Given the description of an element on the screen output the (x, y) to click on. 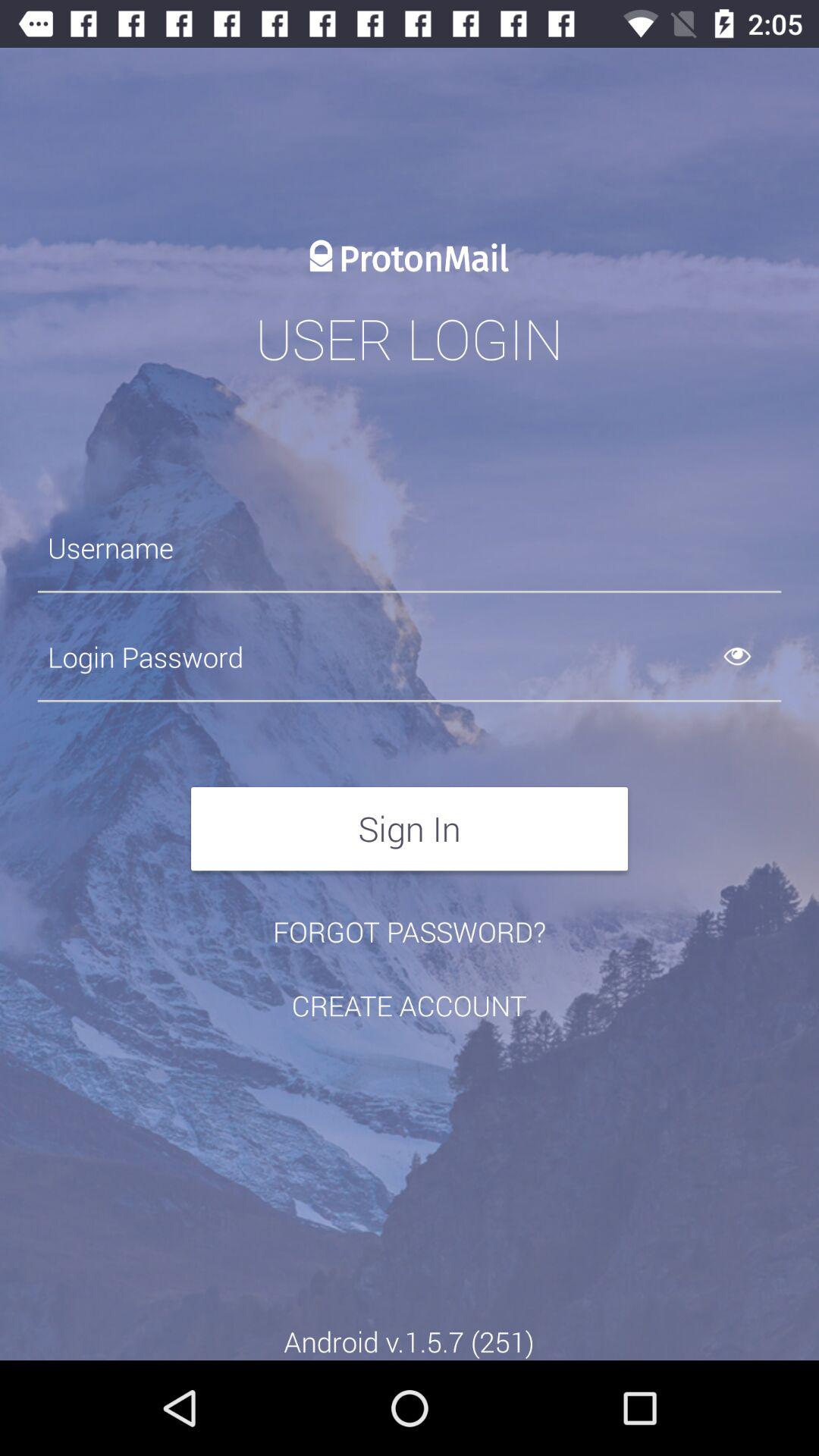
turn off the item above the android v 1 icon (408, 1005)
